Given the description of an element on the screen output the (x, y) to click on. 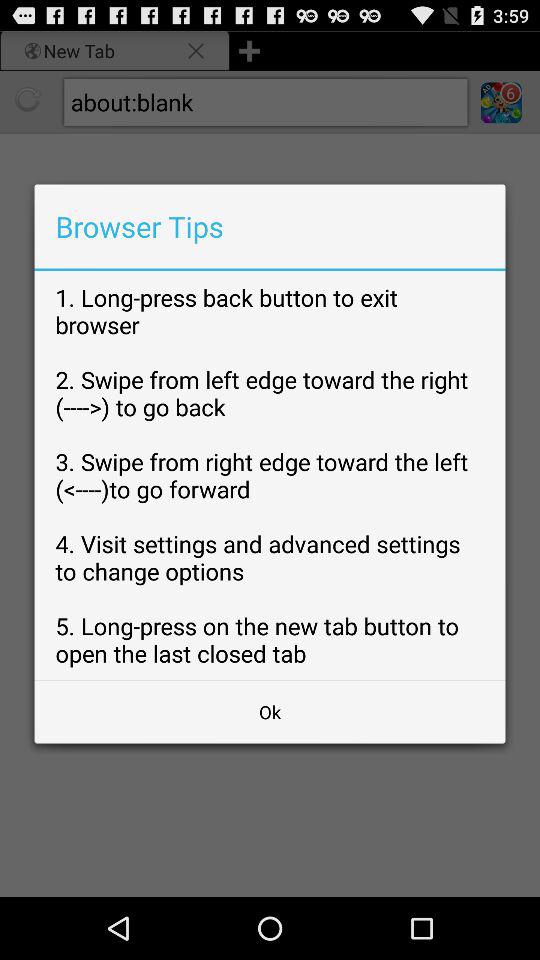
select the button at the bottom (269, 711)
